Given the description of an element on the screen output the (x, y) to click on. 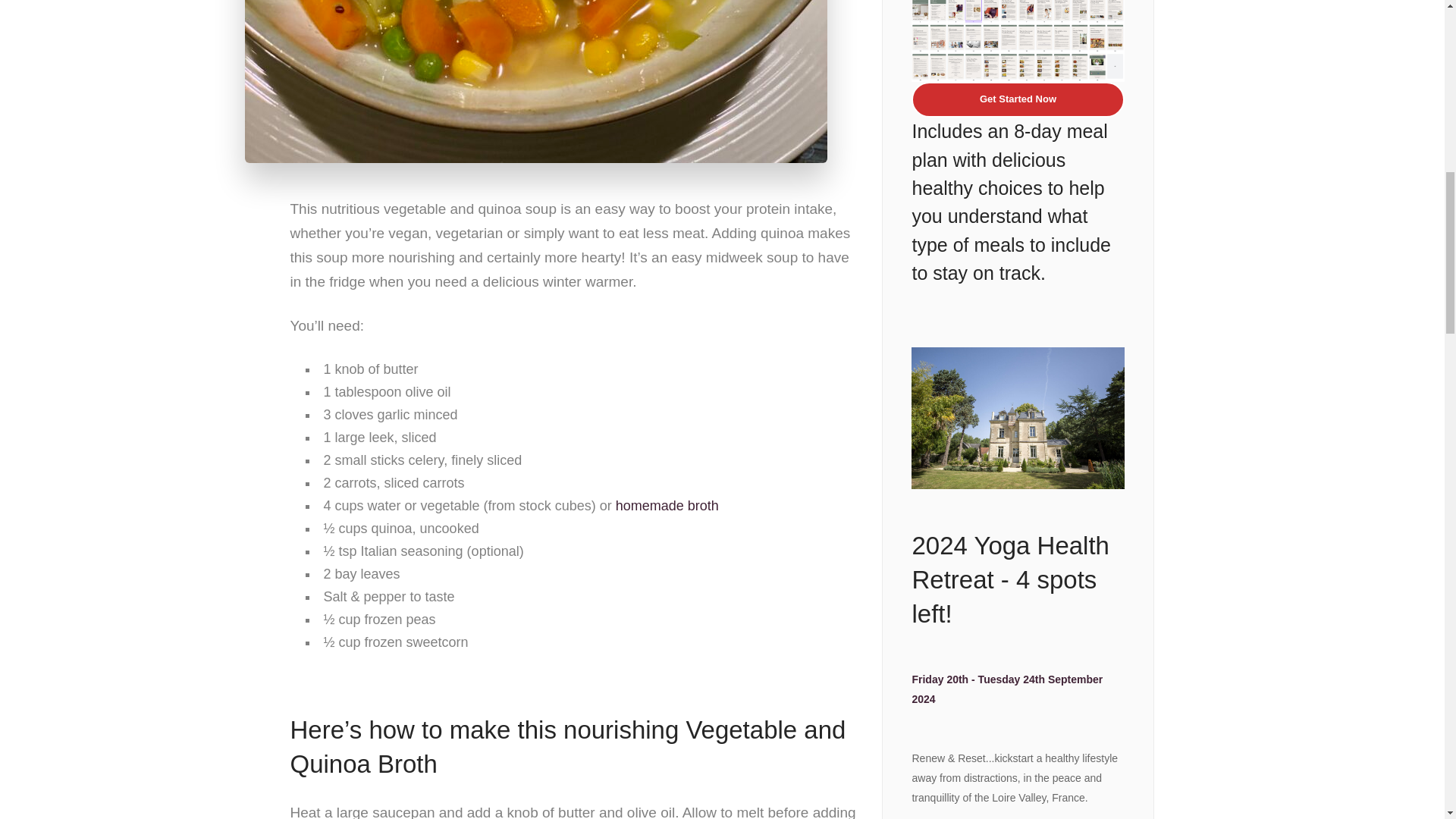
homemade broth (667, 505)
